Given the description of an element on the screen output the (x, y) to click on. 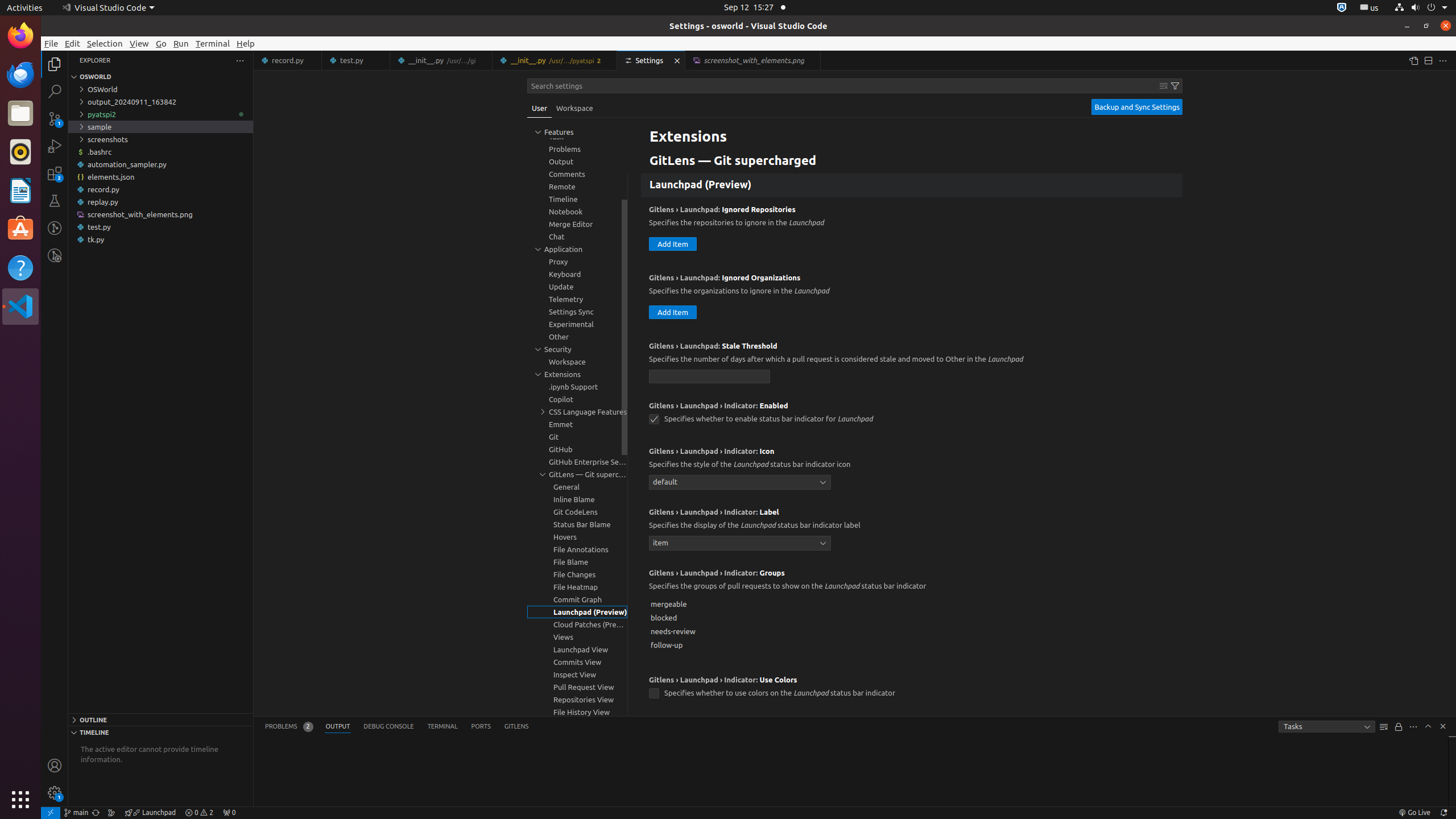
List item `stashes` Element type: list-item (911, 134)
Pull Request View, group Element type: tree-item (577, 686)
Debug Console (Ctrl+Shift+Y) Element type: page-tab (388, 726)
Firefox Web Browser Element type: push-button (20, 35)
Explorer Section: osworld Element type: push-button (160, 76)
